Given the description of an element on the screen output the (x, y) to click on. 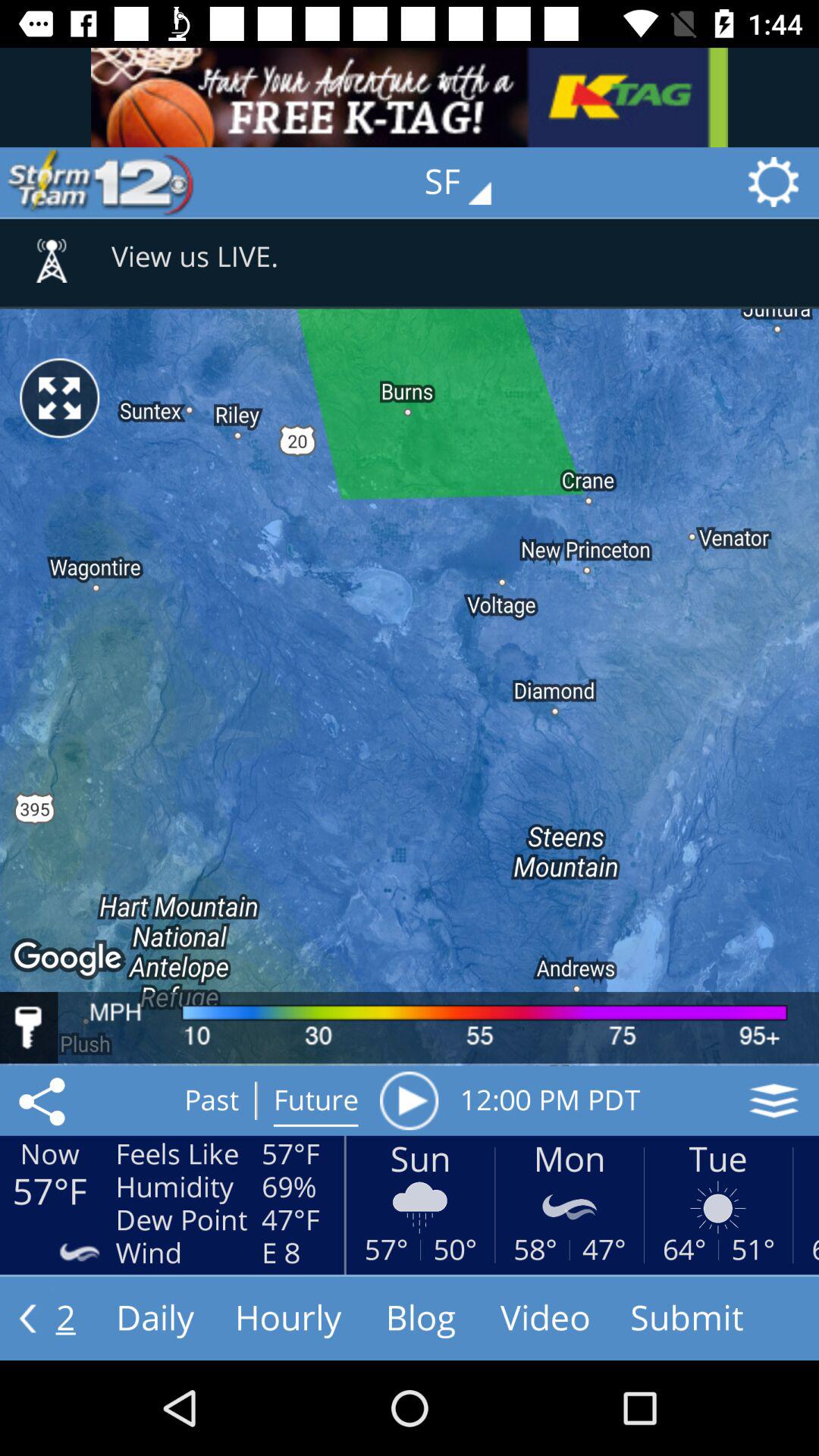
open the icon above the sun icon (409, 1100)
